Given the description of an element on the screen output the (x, y) to click on. 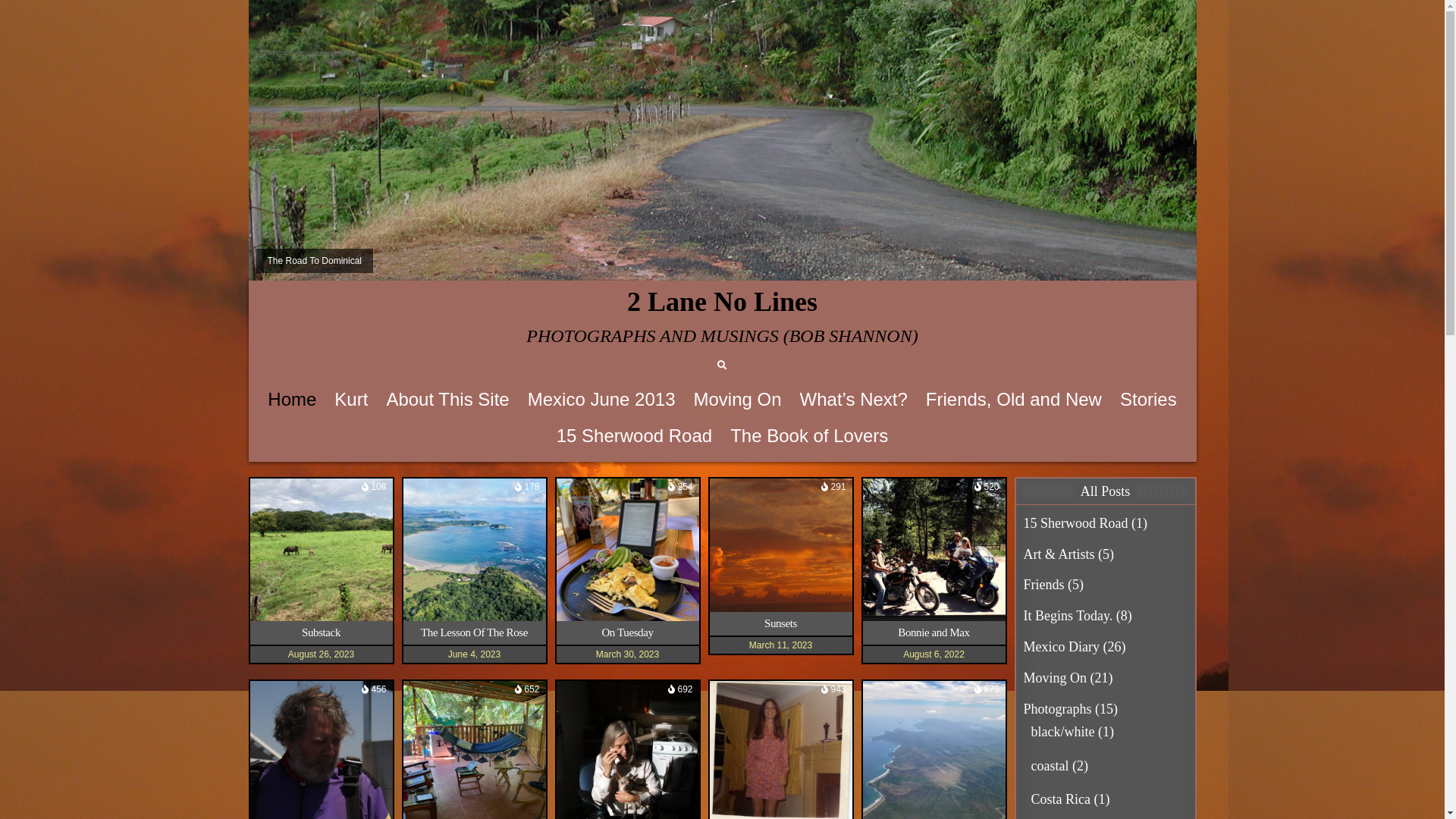
Friends Element type: text (1043, 584)
coastal Element type: text (1050, 765)
Costa Rica Element type: text (1061, 798)
15 Sherwood Road Element type: text (1075, 522)
15 Sherwood Road Element type: text (634, 435)
Stories Element type: text (1148, 399)
Kurt Element type: text (350, 399)
Moving On Element type: text (737, 399)
Permanent Link to Substack Element type: hover (321, 549)
Permanent Link to Sunsets Element type: hover (780, 544)
2 Lane No Lines Element type: text (722, 301)
Photographs Element type: text (1057, 708)
The Lesson Of The Rose Element type: text (473, 632)
It Begins Today. Element type: text (1068, 615)
Home Element type: text (291, 399)
Mexico June 2013 Element type: text (601, 399)
Art & Artists Element type: text (1059, 553)
On Tuesday Element type: text (626, 632)
Search Element type: hover (721, 365)
black/white Element type: text (1063, 731)
Mexico Diary Element type: text (1061, 646)
Substack Element type: text (320, 632)
Permanent Link to Bonnie and Max Element type: hover (933, 549)
Moving On Element type: text (1055, 677)
Permanent Link to On Tuesday Element type: hover (627, 549)
Permanent Link to The Lesson Of The Rose Element type: hover (474, 549)
Bonnie and Max Element type: text (933, 632)
Sunsets Element type: text (780, 623)
Friends, Old and New Element type: text (1013, 399)
The Book of Lovers Element type: text (809, 435)
About This Site Element type: text (446, 399)
